Given the description of an element on the screen output the (x, y) to click on. 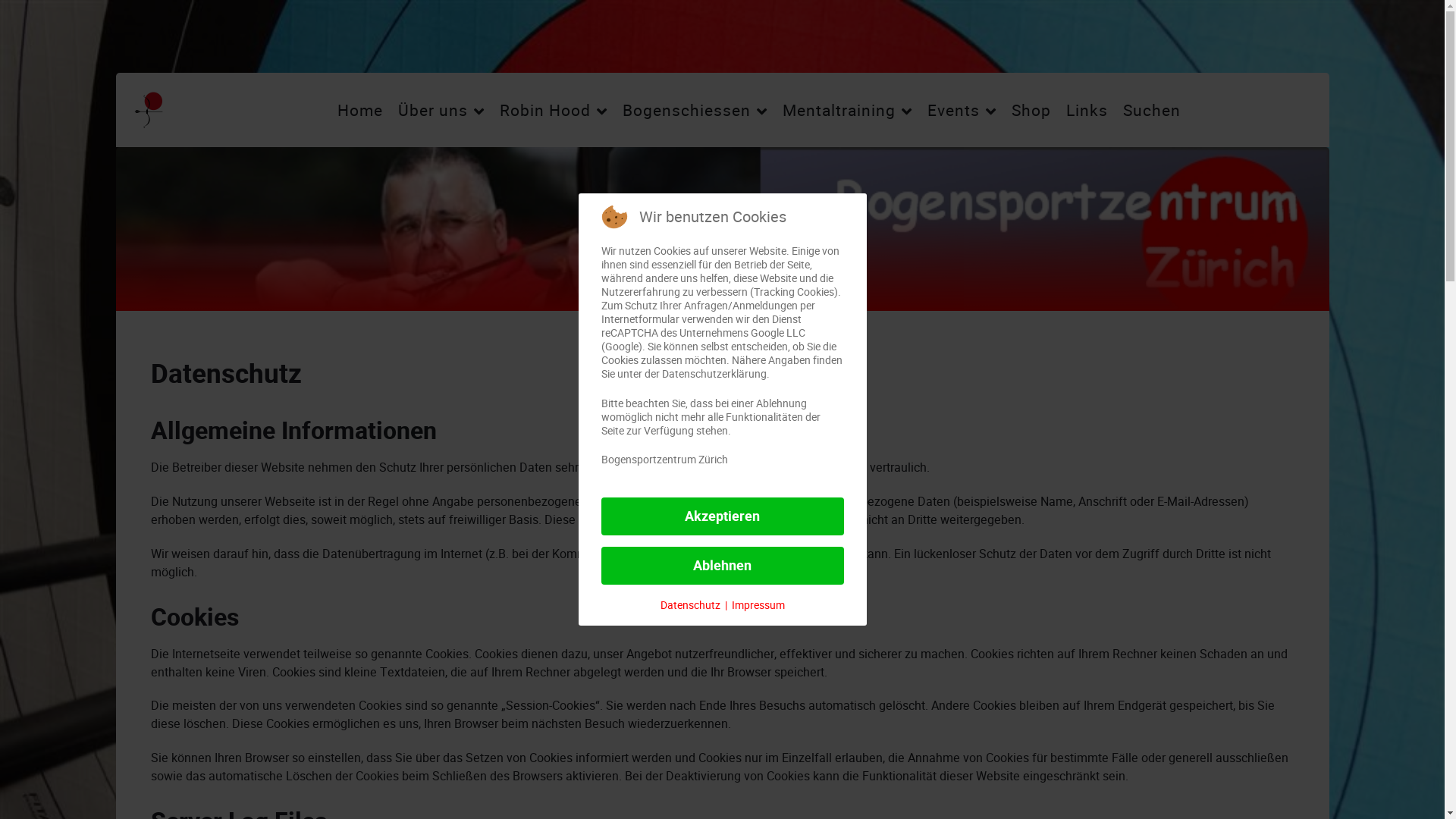
Home Element type: text (360, 109)
Suchen Element type: text (1151, 109)
Datenschutz Element type: text (689, 604)
Bogenschiessen Element type: text (694, 109)
Impressum Element type: text (757, 604)
Robin Hood Element type: text (553, 109)
Mentaltraining Element type: text (847, 109)
Links Element type: text (1086, 109)
Akzeptieren Element type: text (721, 516)
Shop Element type: text (1031, 109)
Ablehnen Element type: text (721, 565)
Events Element type: text (961, 109)
